Given the description of an element on the screen output the (x, y) to click on. 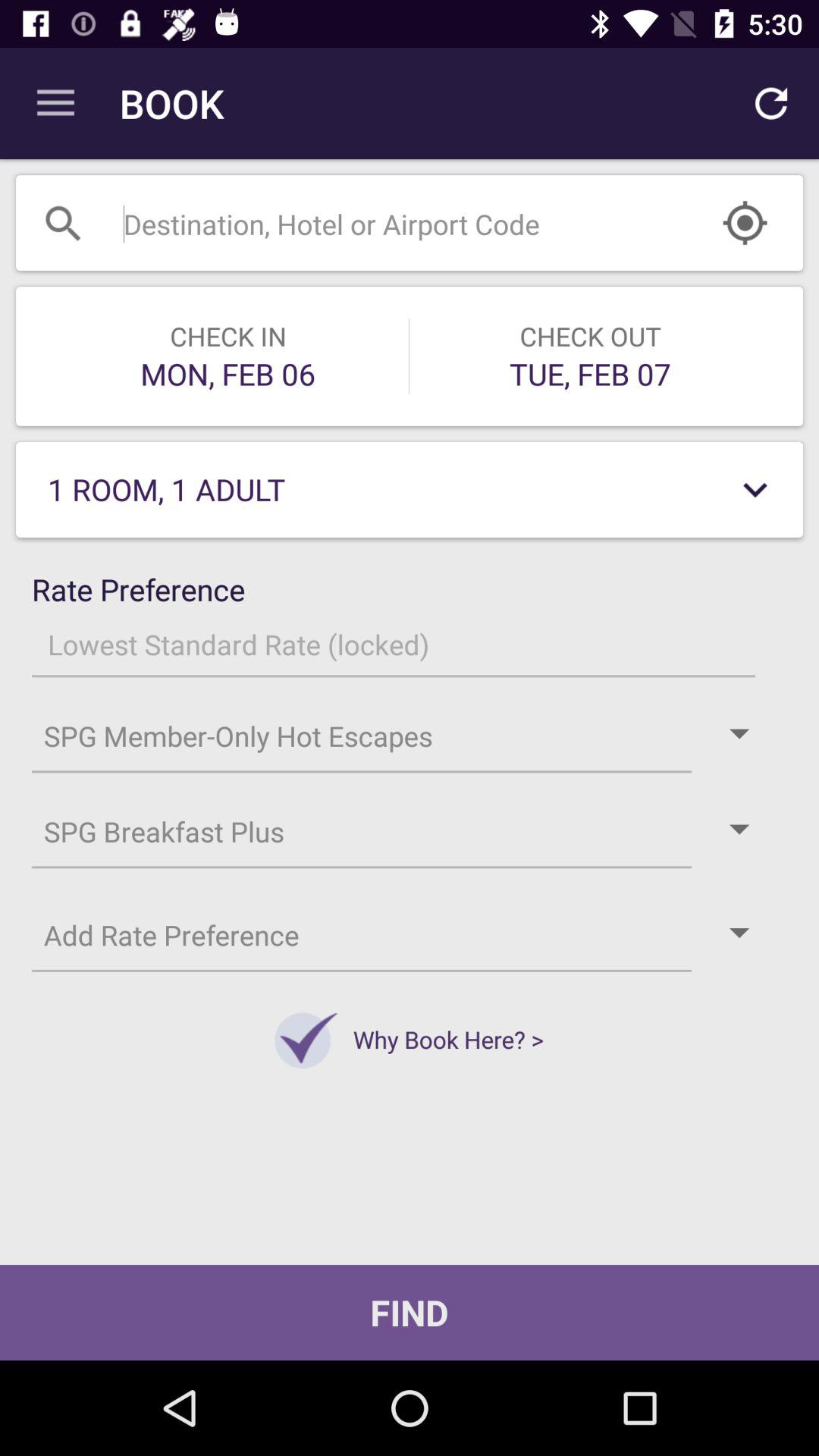
click reload (771, 103)
select the search bar (409, 222)
